Given the description of an element on the screen output the (x, y) to click on. 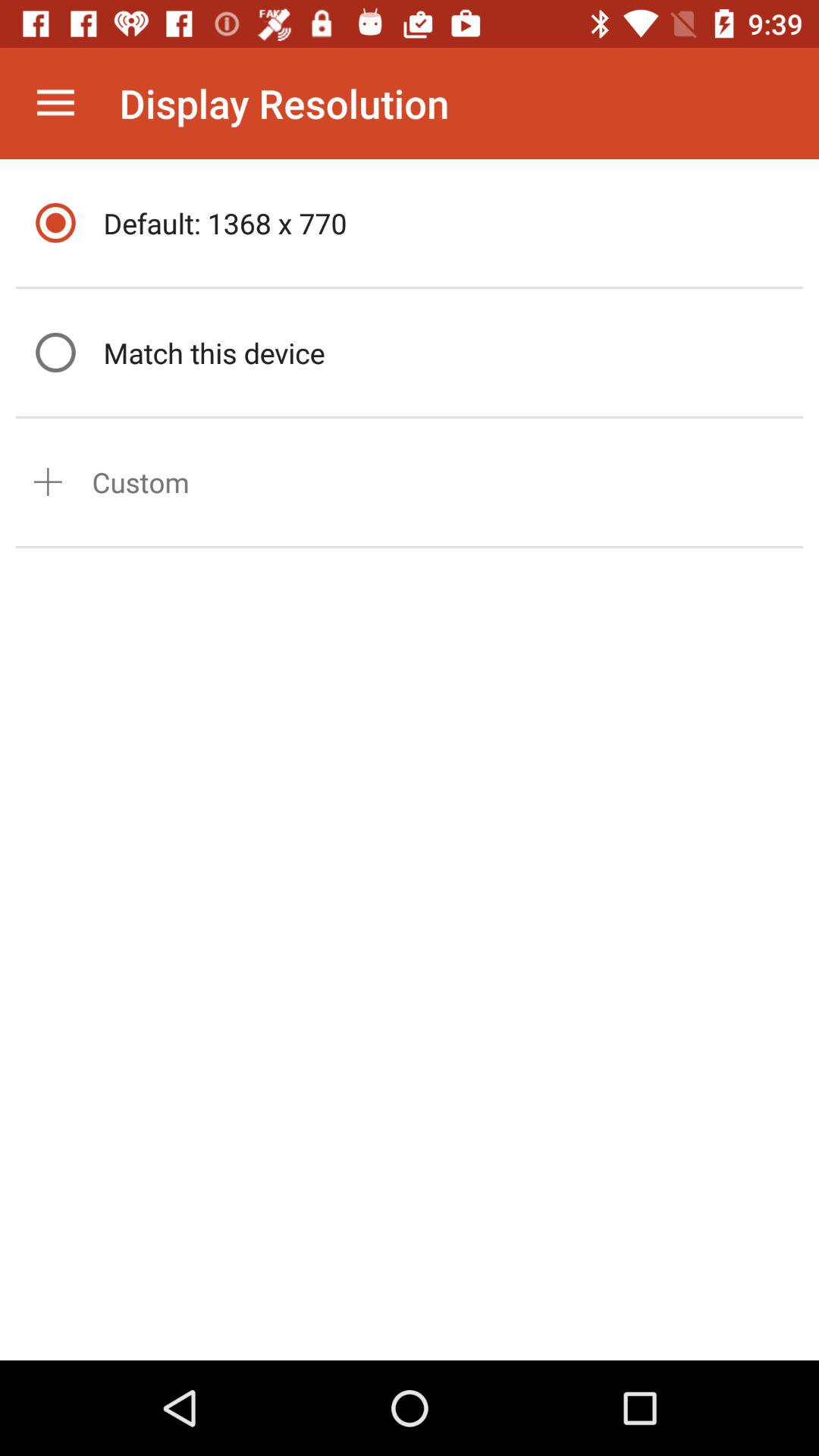
click item to the left of the custom icon (47, 481)
